Given the description of an element on the screen output the (x, y) to click on. 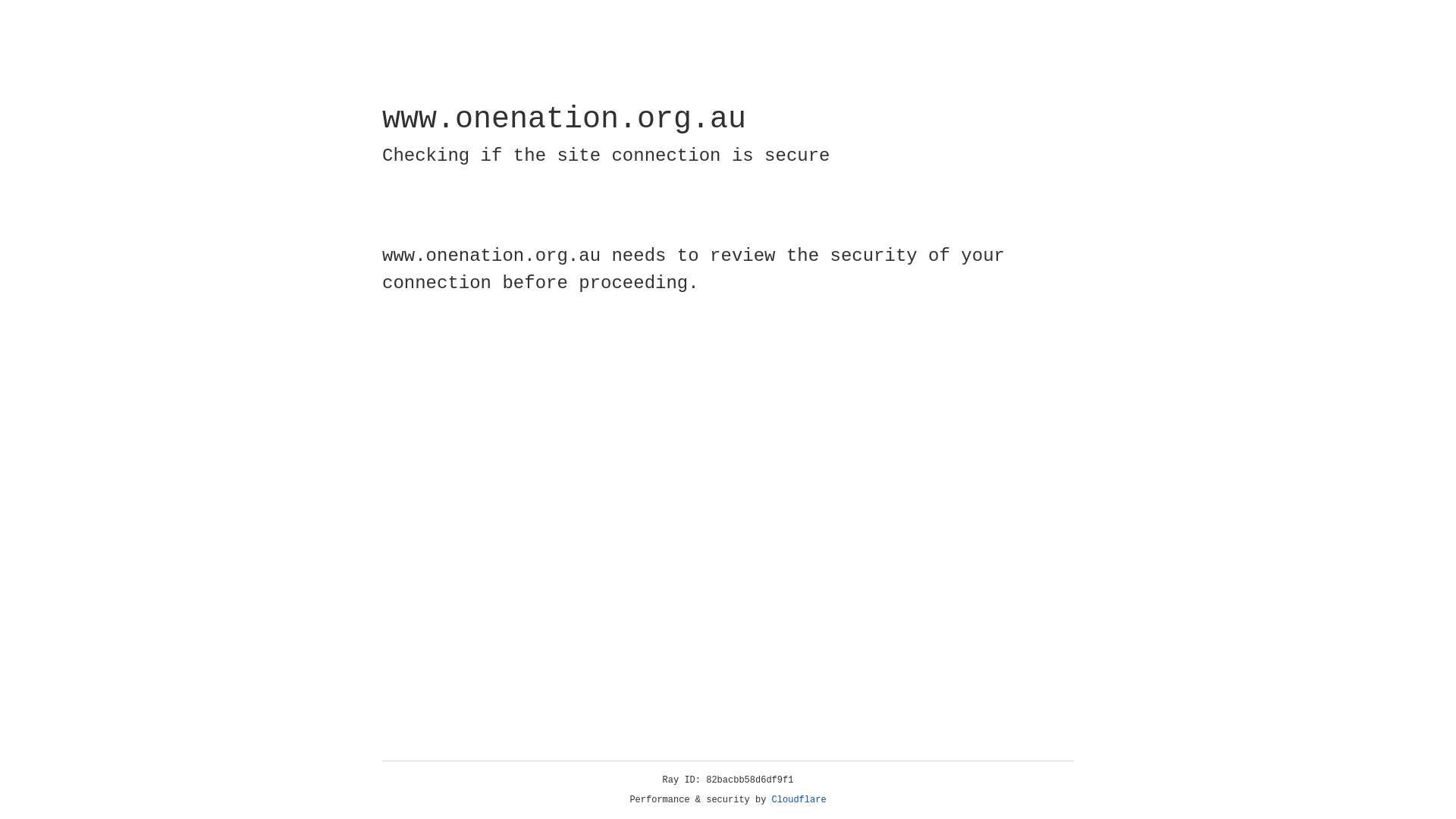
Cloudflare Element type: text (798, 799)
